Given the description of an element on the screen output the (x, y) to click on. 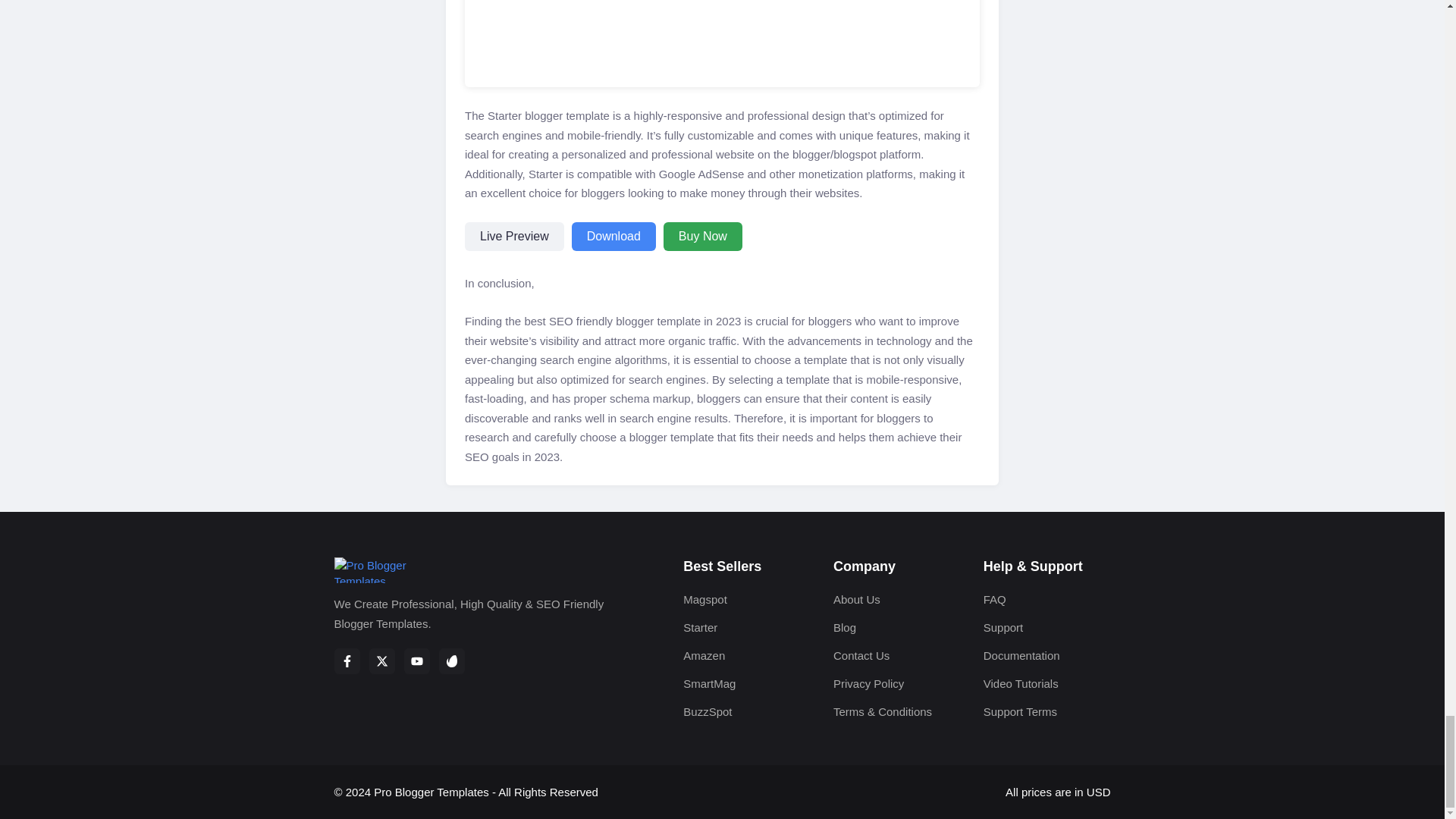
Starter Blogger Template (721, 43)
Pro Blogger Templates (469, 577)
Facebook (346, 661)
Envato (451, 661)
Twitter (381, 661)
YouTube (416, 661)
